Given the description of an element on the screen output the (x, y) to click on. 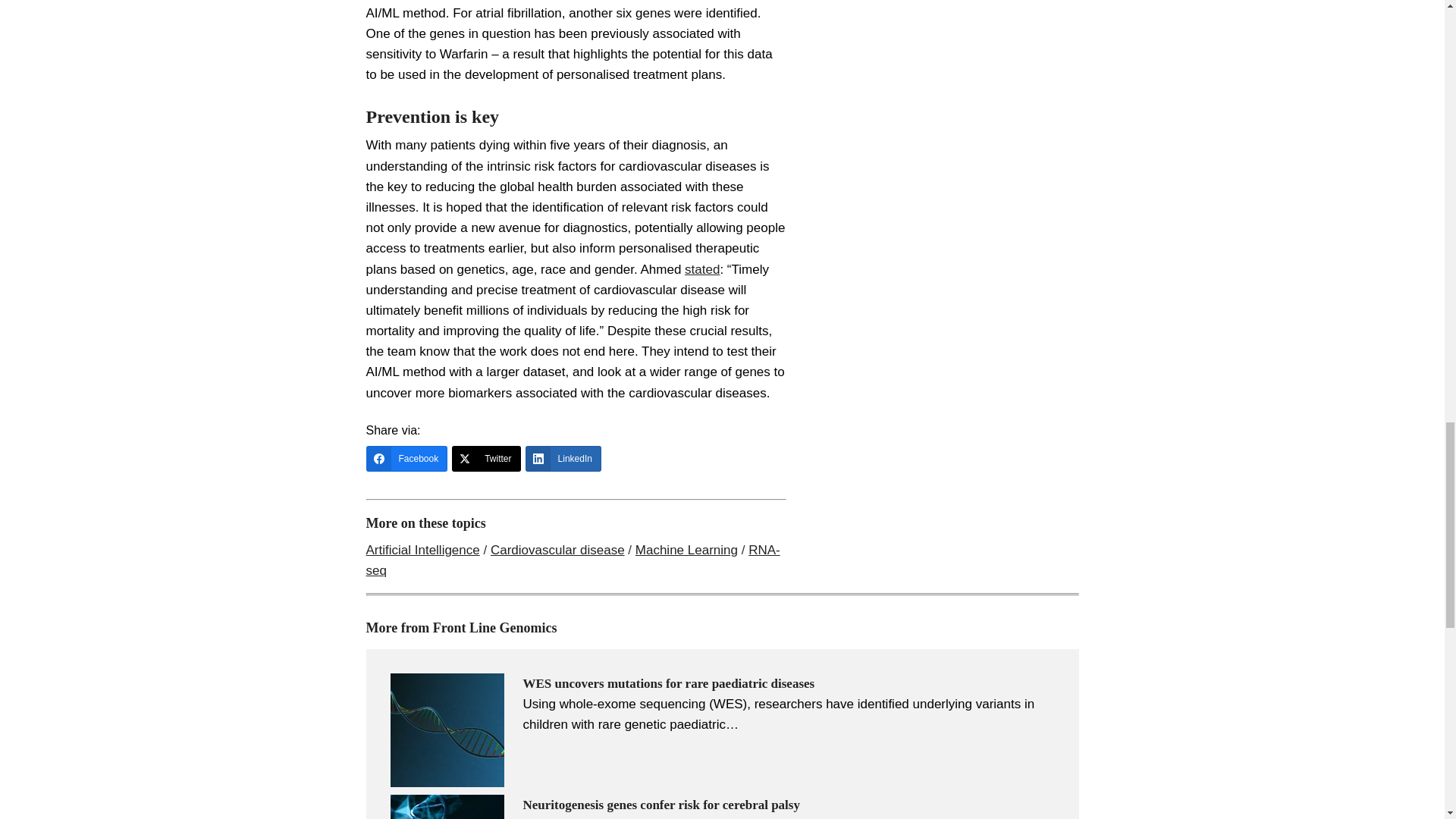
Facebook (405, 458)
stated (701, 269)
Twitter (485, 458)
